Given the description of an element on the screen output the (x, y) to click on. 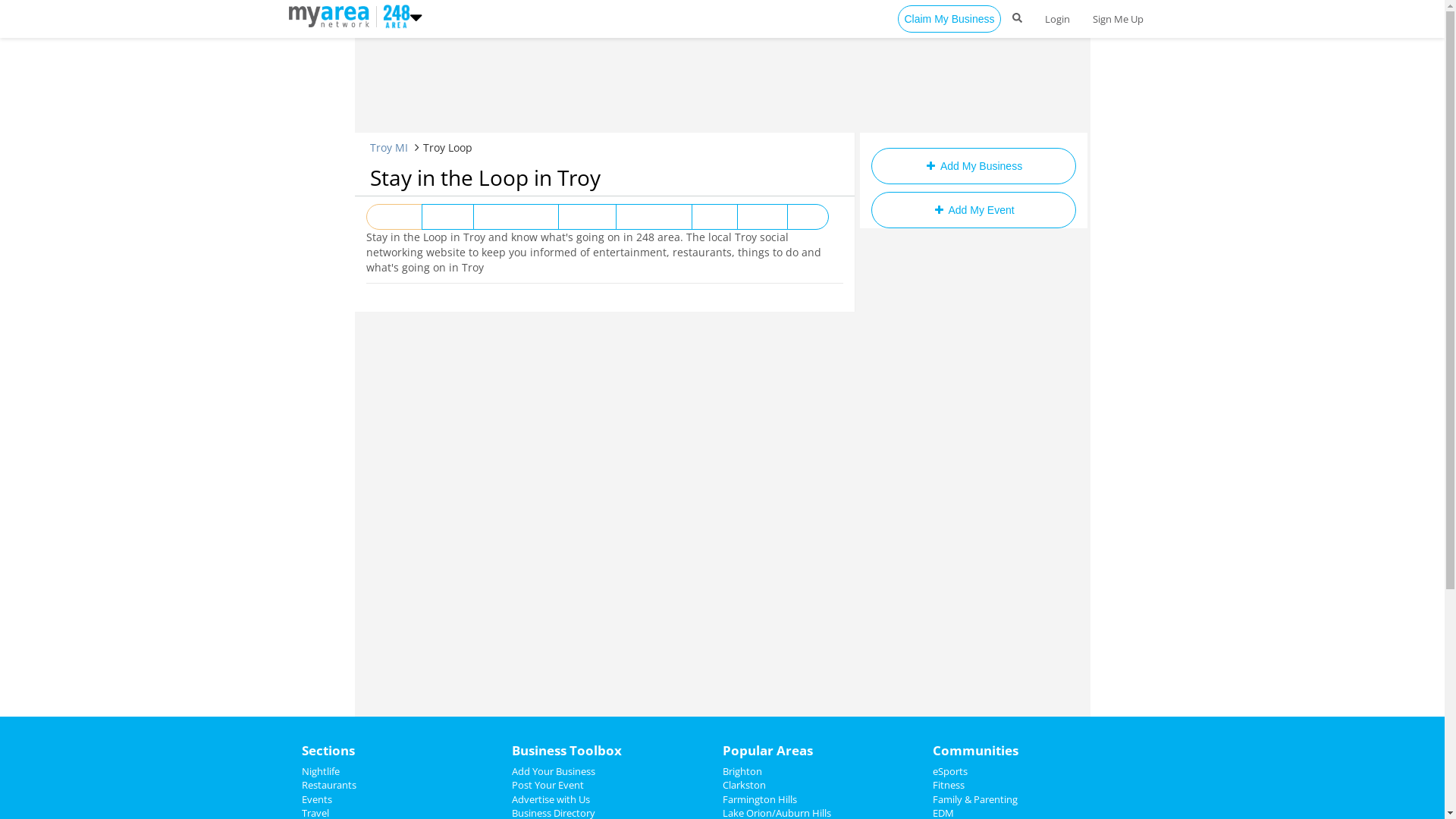
Nightlife Element type: text (587, 216)
Troy MI Element type: text (388, 147)
Family & Parenting Element type: text (974, 799)
Farmington Hills Element type: text (758, 799)
Events Element type: text (447, 216)
Entertainment Element type: text (515, 216)
Post Your Event Element type: text (547, 784)
Sports Element type: text (762, 216)
Advertise with Us Element type: text (550, 799)
https://www.248area.com Element type: hover (332, 15)
eSports Element type: text (949, 771)
https://www.248area.com Element type: hover (392, 15)
Add My Business Element type: text (972, 165)
Nightlife Element type: text (320, 771)
Restaurants Element type: text (328, 784)
Sign Me Up Element type: text (1117, 18)
Restaurants Element type: text (653, 216)
Fitness Element type: text (948, 784)
Claim My Business Element type: text (948, 18)
Brighton Element type: text (741, 771)
Add Your Business Element type: text (553, 771)
Jobs Element type: text (808, 216)
Clarkston Element type: text (743, 784)
News Element type: text (714, 216)
Add My Event Element type: text (972, 209)
Login Element type: text (1056, 18)
View All Element type: text (393, 216)
Events Element type: text (316, 799)
